Given the description of an element on the screen output the (x, y) to click on. 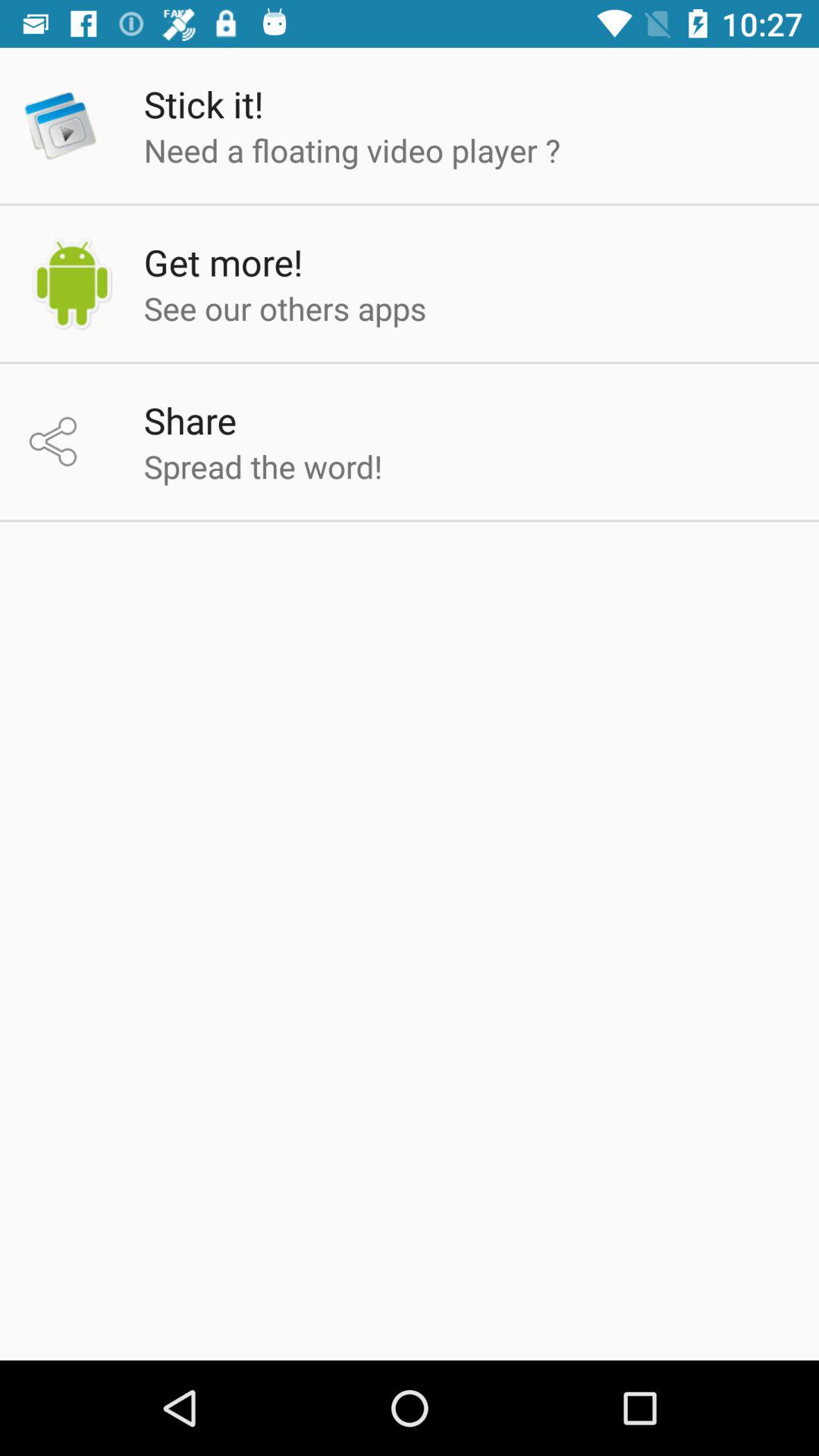
launch share item (189, 419)
